Given the description of an element on the screen output the (x, y) to click on. 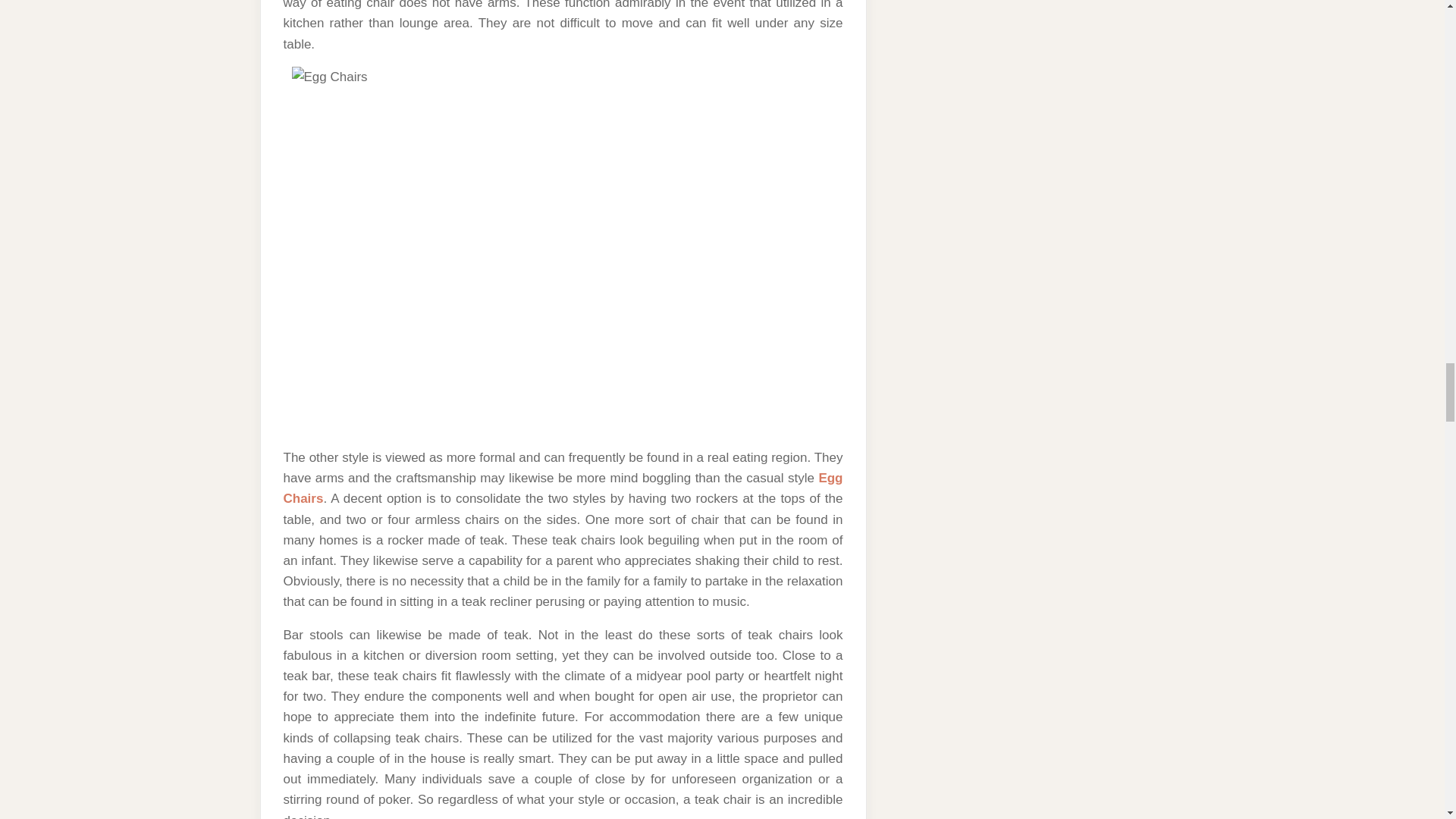
Egg Chairs (563, 488)
